Given the description of an element on the screen output the (x, y) to click on. 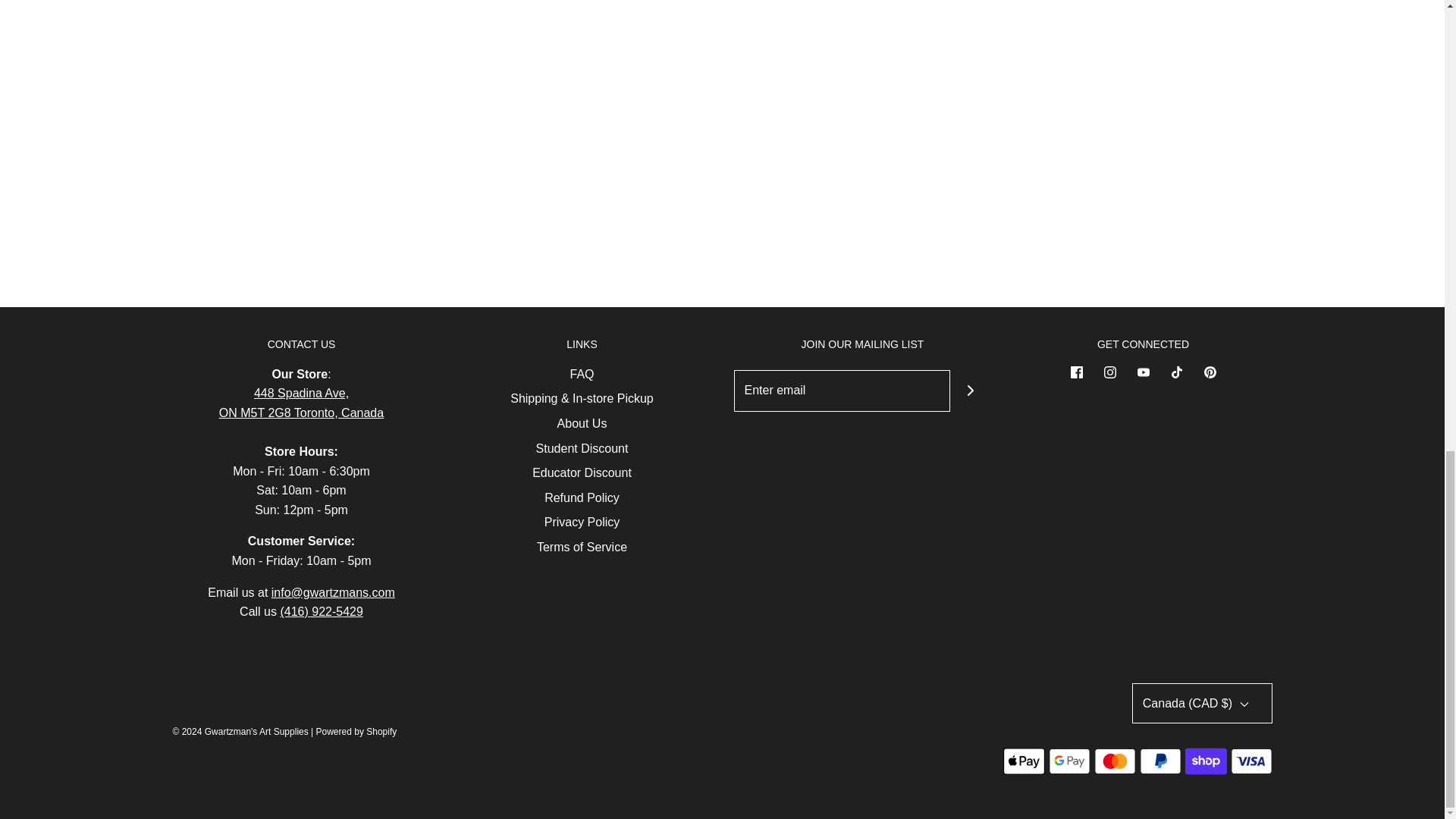
Visa (1250, 761)
Mastercard (1114, 761)
Apple Pay (1023, 761)
Google Pay (1068, 761)
PayPal (1159, 761)
Shop Pay (1205, 761)
